Given the description of an element on the screen output the (x, y) to click on. 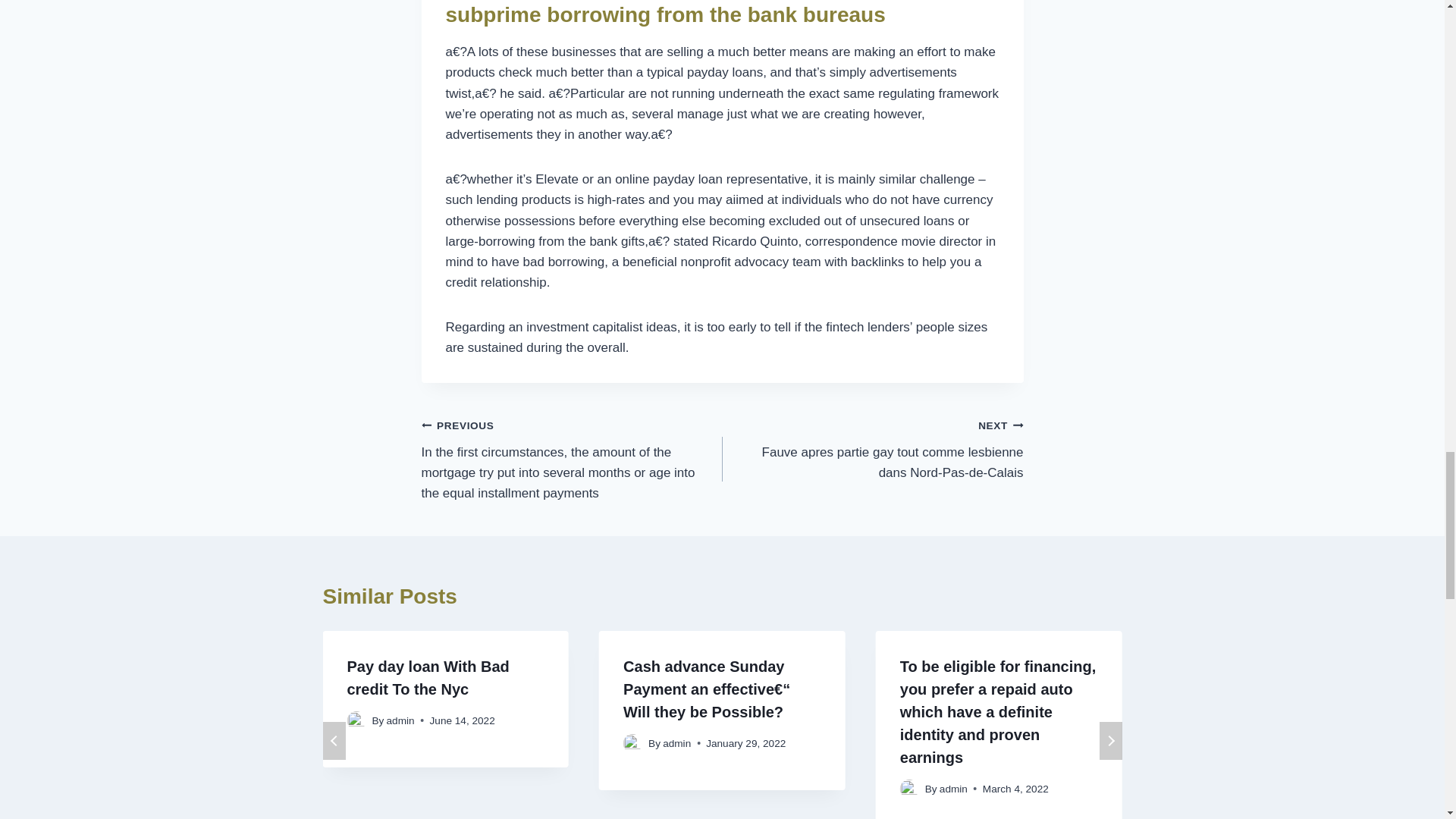
prev (334, 740)
next (1110, 740)
